Given the description of an element on the screen output the (x, y) to click on. 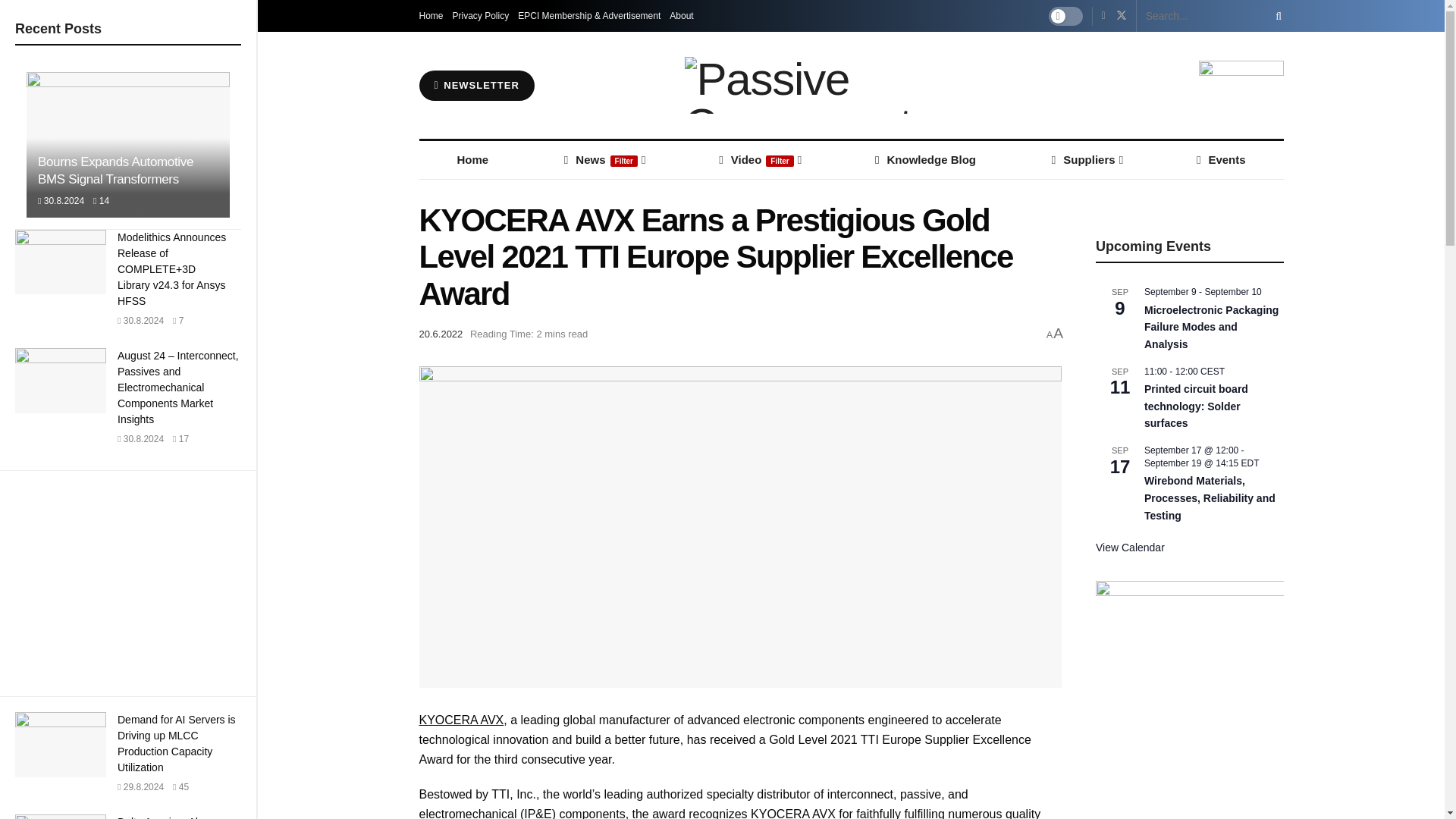
30.8.2024 (140, 439)
Wirebond Materials, Processes, Reliability and Testing (1209, 498)
Printed circuit board technology: Solder surfaces (1195, 406)
View more events. (1130, 547)
Privacy Policy (480, 15)
7 (178, 320)
30.8.2024 (60, 200)
45 (181, 787)
Bourns Expands Automotive BMS Signal Transformers (115, 170)
